Given the description of an element on the screen output the (x, y) to click on. 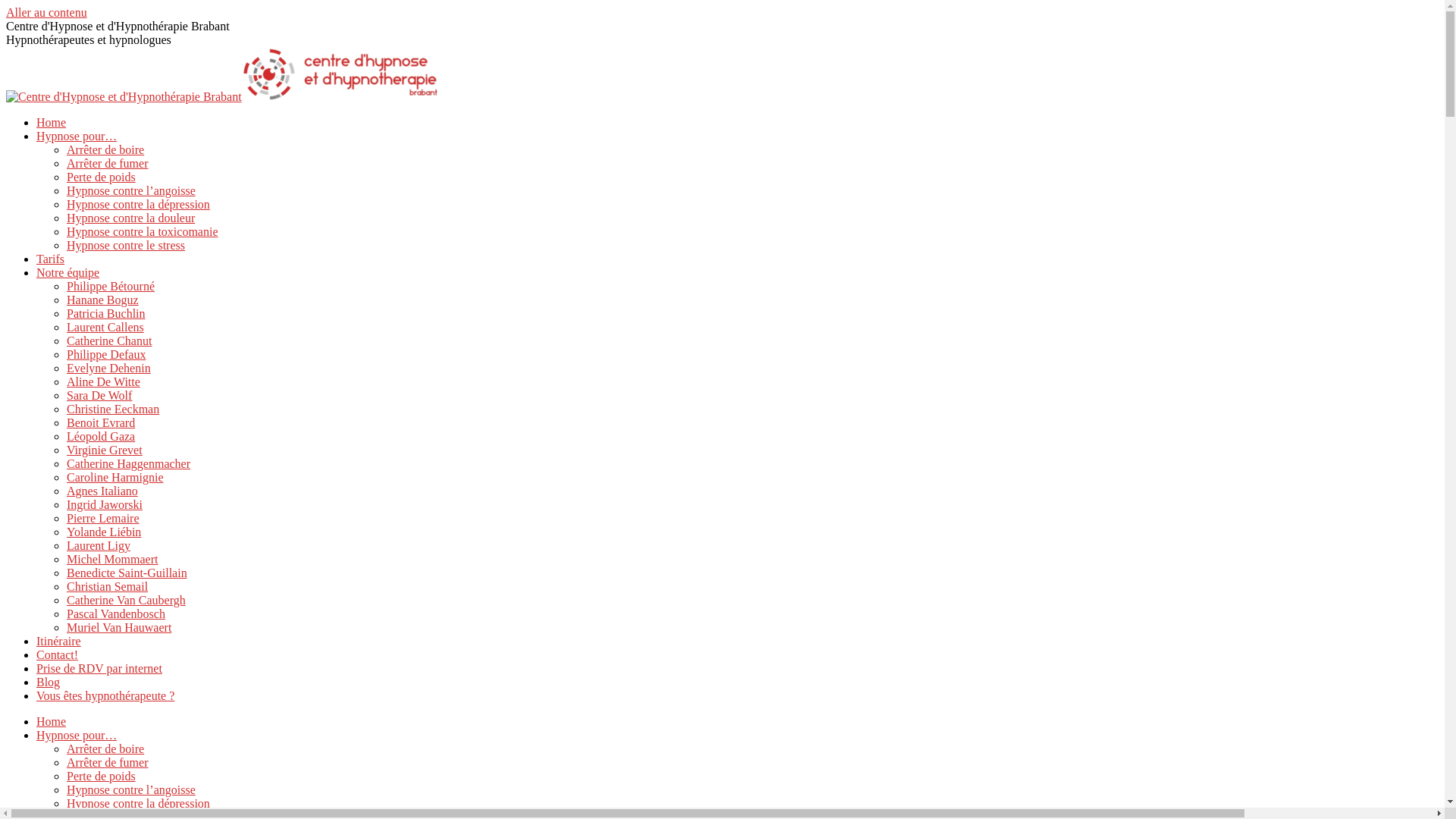
Catherine Chanut Element type: text (108, 340)
Blog Element type: text (47, 681)
Home Element type: text (50, 122)
Michel Mommaert Element type: text (111, 558)
Benoit Evrard Element type: text (100, 422)
Home Element type: text (50, 721)
Laurent Ligy Element type: text (98, 545)
Hypnose contre la douleur Element type: text (130, 217)
Pierre Lemaire Element type: text (102, 517)
Perte de poids Element type: text (100, 176)
Aline De Witte Element type: text (103, 381)
Christian Semail Element type: text (106, 586)
Ingrid Jaworski Element type: text (104, 504)
Philippe Defaux Element type: text (105, 354)
Hypnose contre le stress Element type: text (125, 244)
Tarifs Element type: text (50, 258)
Catherine Haggenmacher Element type: text (128, 463)
Christine Eeckman Element type: text (112, 408)
Aller au contenu Element type: text (46, 12)
Perte de poids Element type: text (100, 775)
Pascal Vandenbosch Element type: text (115, 613)
Laurent Callens Element type: text (105, 326)
Muriel Van Hauwaert Element type: text (118, 627)
Sara De Wolf Element type: text (98, 395)
Benedicte Saint-Guillain Element type: text (126, 572)
Hanane Boguz Element type: text (102, 299)
Patricia Buchlin Element type: text (105, 313)
Caroline Harmignie Element type: text (114, 476)
Contact! Element type: text (57, 654)
Prise de RDV par internet Element type: text (99, 668)
Catherine Van Caubergh Element type: text (125, 599)
Agnes Italiano Element type: text (102, 490)
Evelyne Dehenin Element type: text (108, 367)
Hypnose contre la toxicomanie Element type: text (142, 231)
Virginie Grevet Element type: text (104, 449)
